Given the description of an element on the screen output the (x, y) to click on. 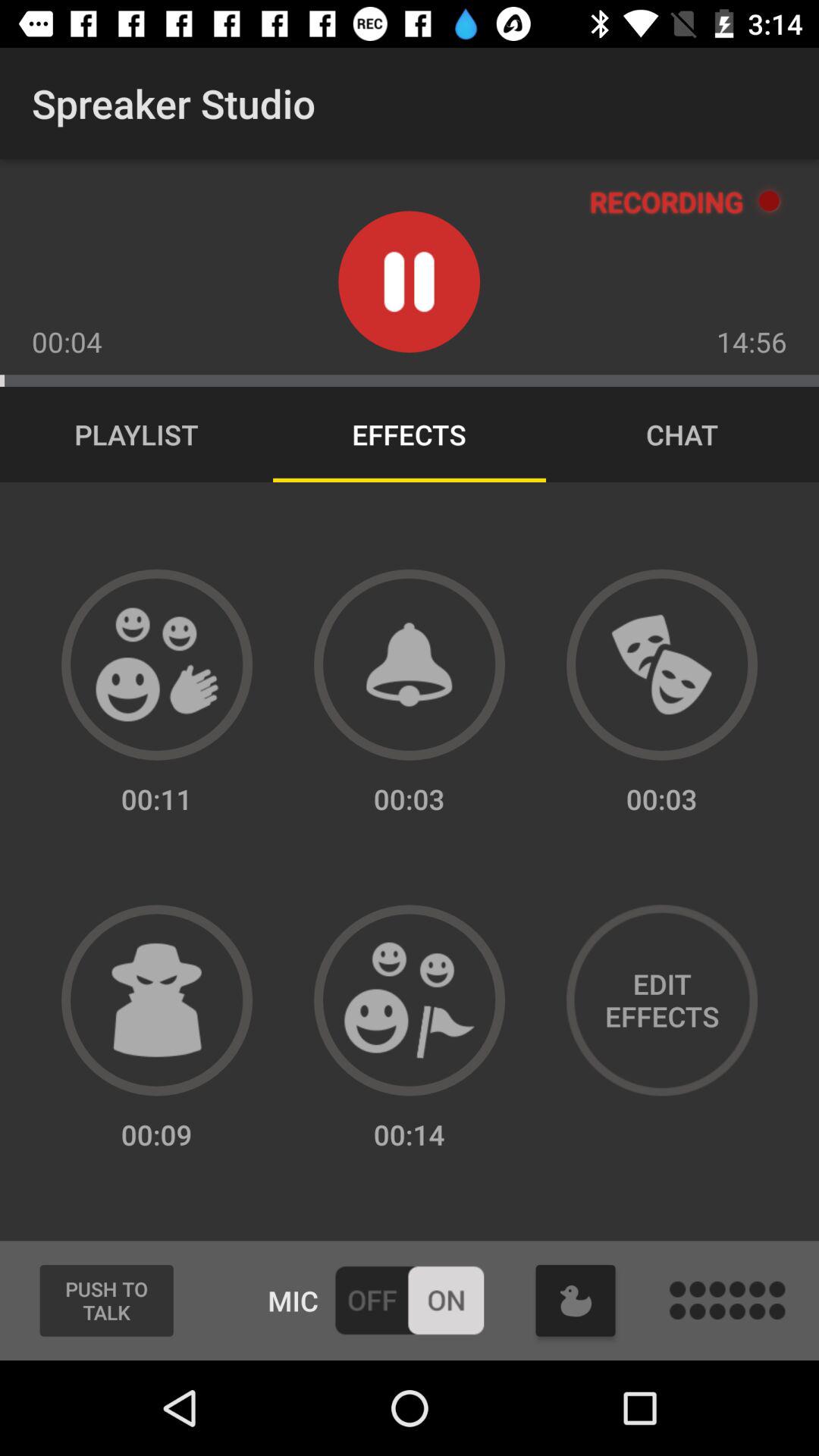
toggle effect (409, 999)
